Given the description of an element on the screen output the (x, y) to click on. 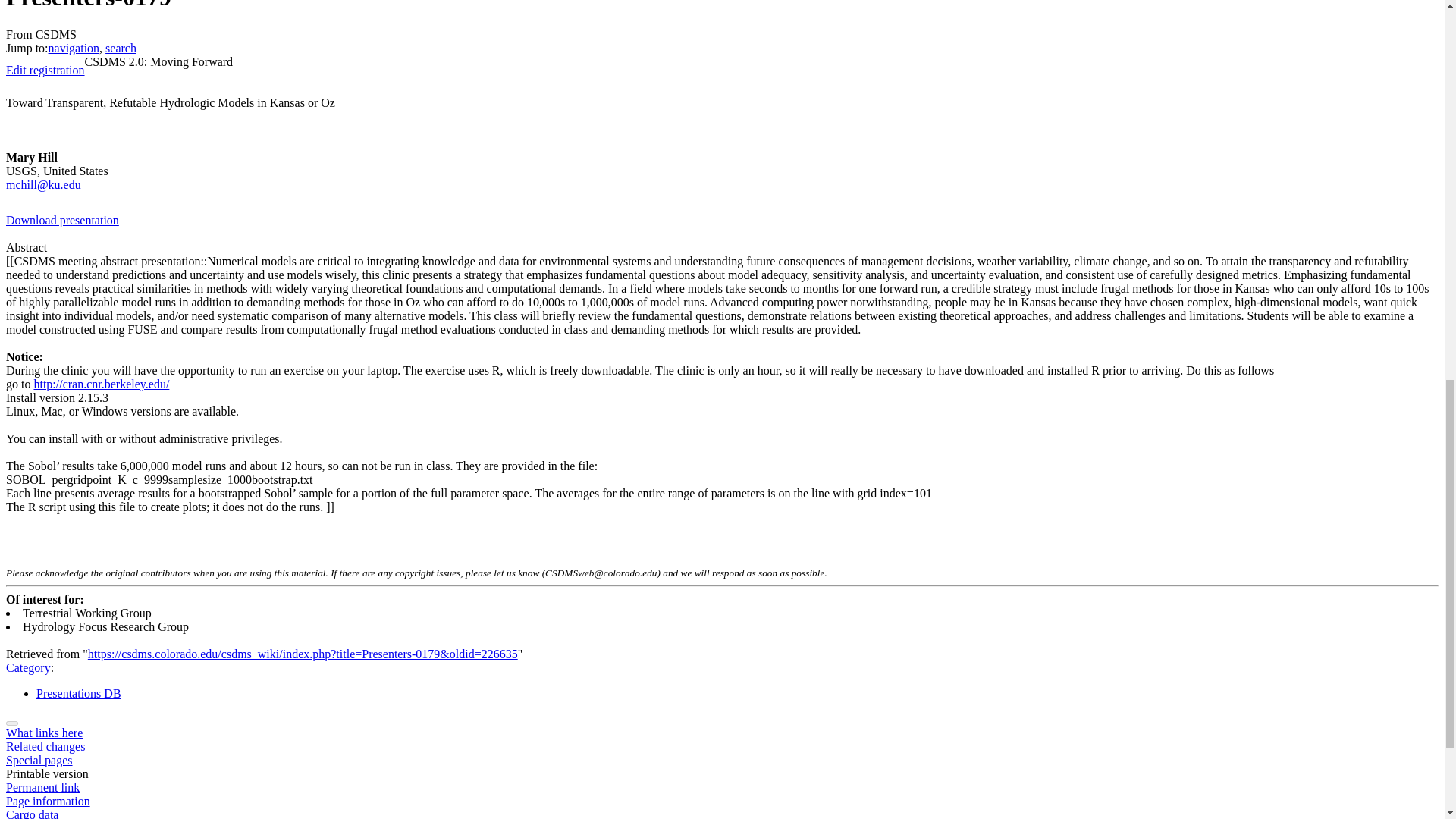
More information about this page (47, 800)
Special:Categories (27, 667)
Permanent link to this revision of this page (42, 787)
